Given the description of an element on the screen output the (x, y) to click on. 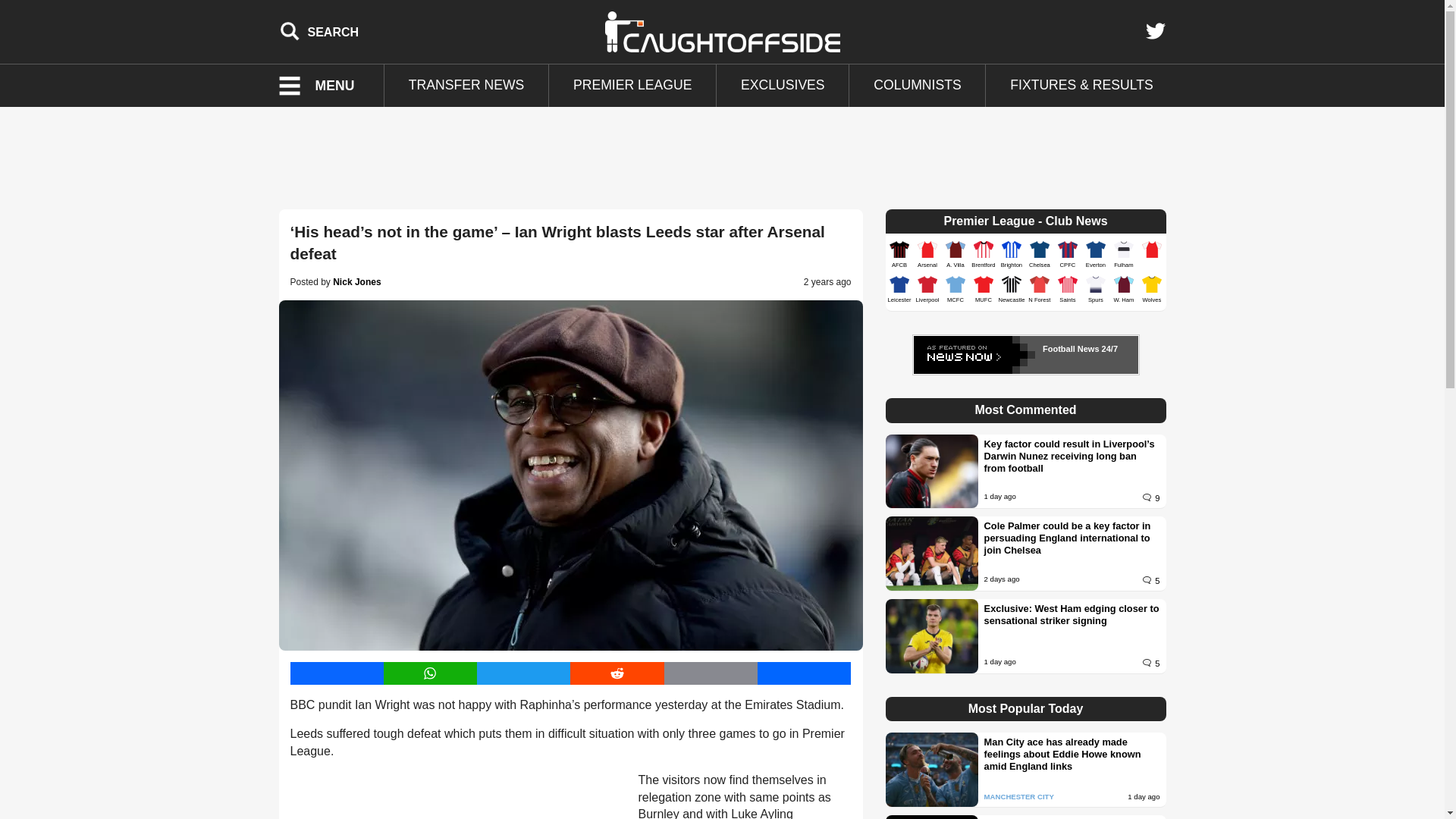
EXCLUSIVES (782, 85)
Twitter (1155, 30)
Search (319, 30)
PREMIER LEAGUE (632, 85)
Menu (325, 85)
TRANSFER NEWS (466, 85)
